Given the description of an element on the screen output the (x, y) to click on. 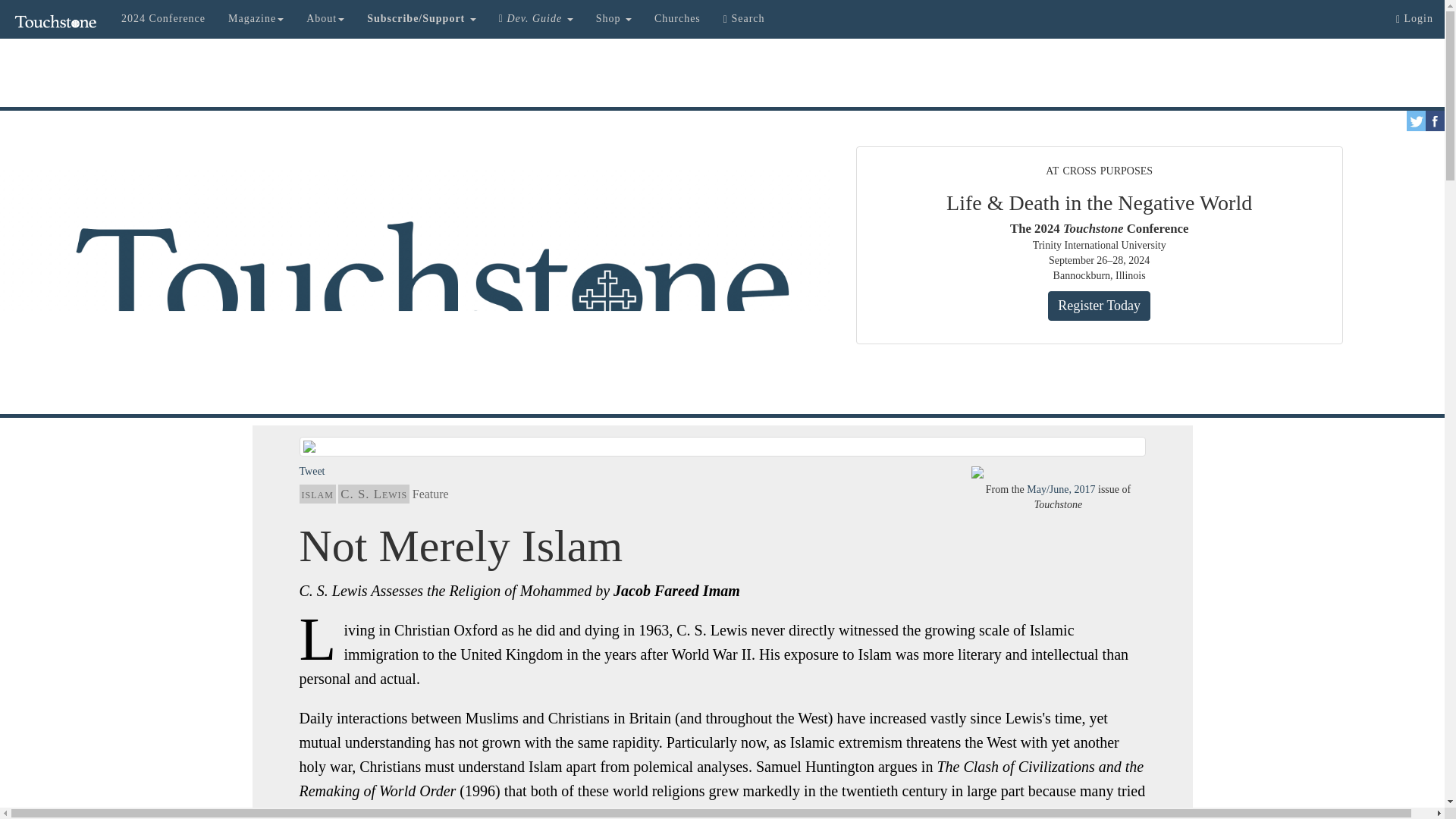
Search (743, 18)
Magazine (255, 18)
Login (1414, 18)
Churches (677, 18)
Shop (614, 18)
Dev. Guide (536, 18)
Register Today (1099, 306)
About (325, 18)
2024 Conference (163, 18)
